Given the description of an element on the screen output the (x, y) to click on. 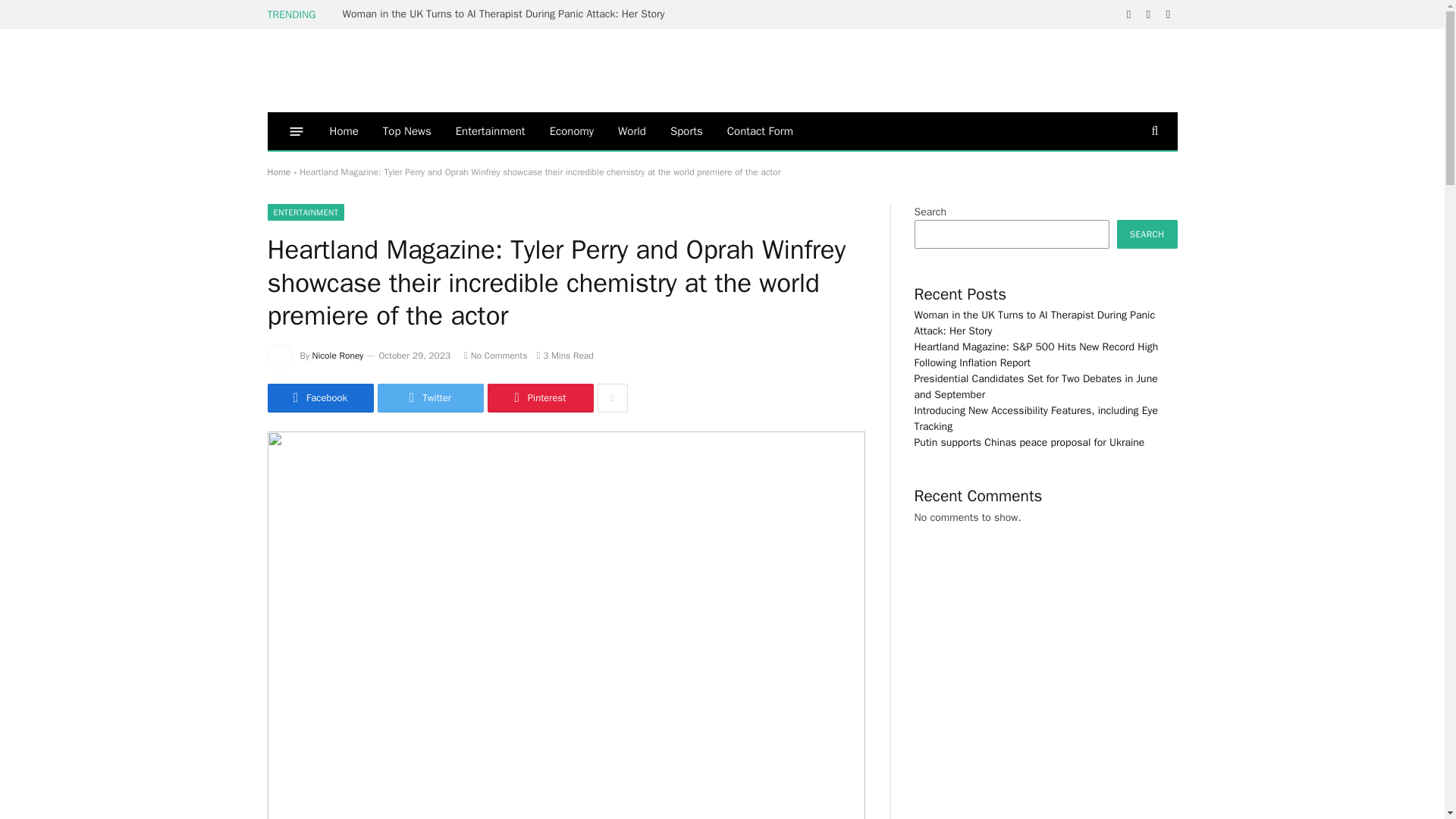
Posts by Nicole Roney (338, 355)
Nicole Roney (338, 355)
World (631, 130)
Top News (407, 130)
Economy (571, 130)
Share on Pinterest (539, 398)
Share on Facebook (319, 398)
Home (277, 172)
Show More Social Sharing (611, 398)
Entertainment (490, 130)
ENTERTAINMENT (304, 211)
Contact Form (759, 130)
Home (343, 130)
Facebook (319, 398)
